Given the description of an element on the screen output the (x, y) to click on. 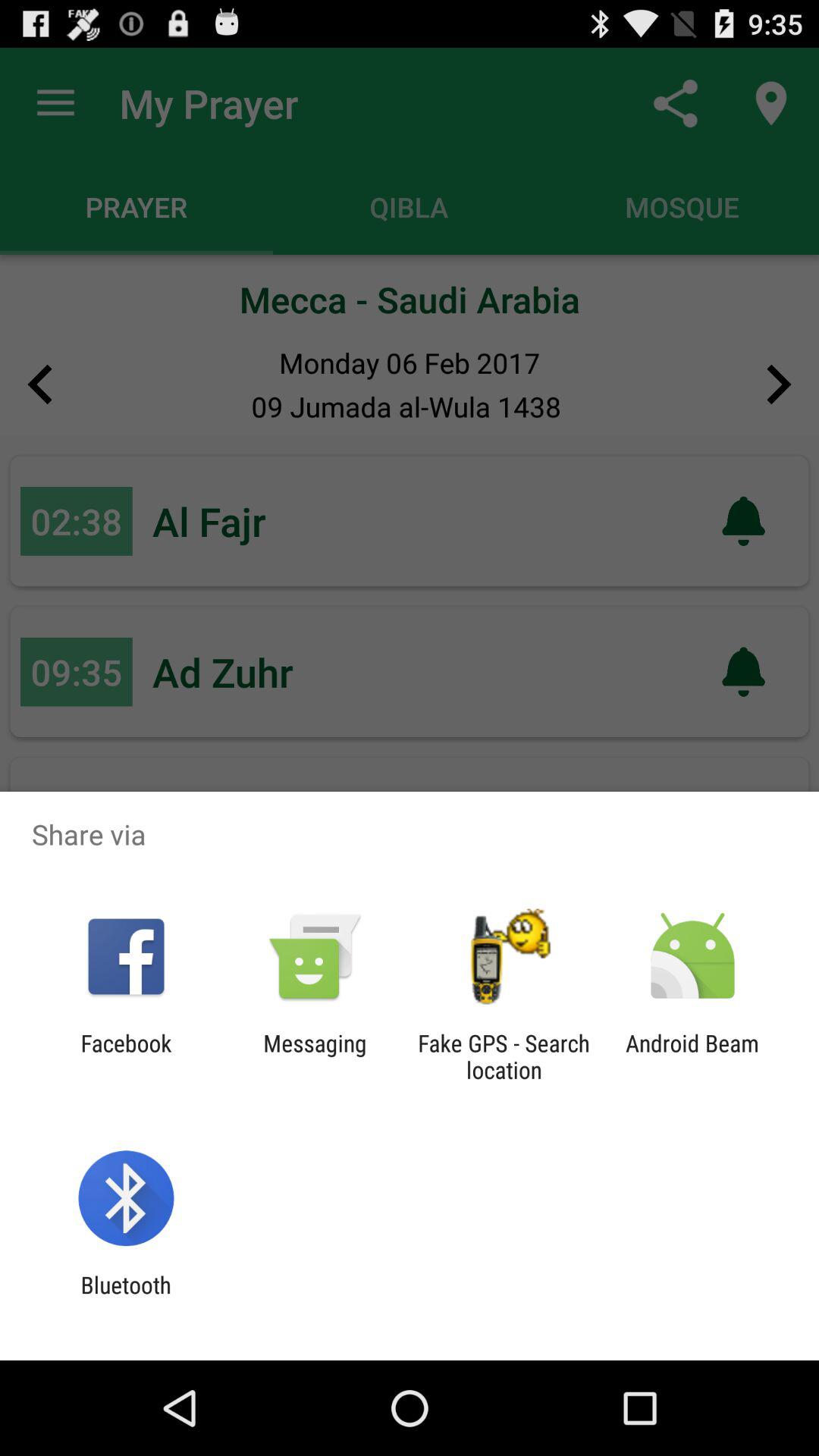
turn off app to the right of fake gps search app (692, 1056)
